Given the description of an element on the screen output the (x, y) to click on. 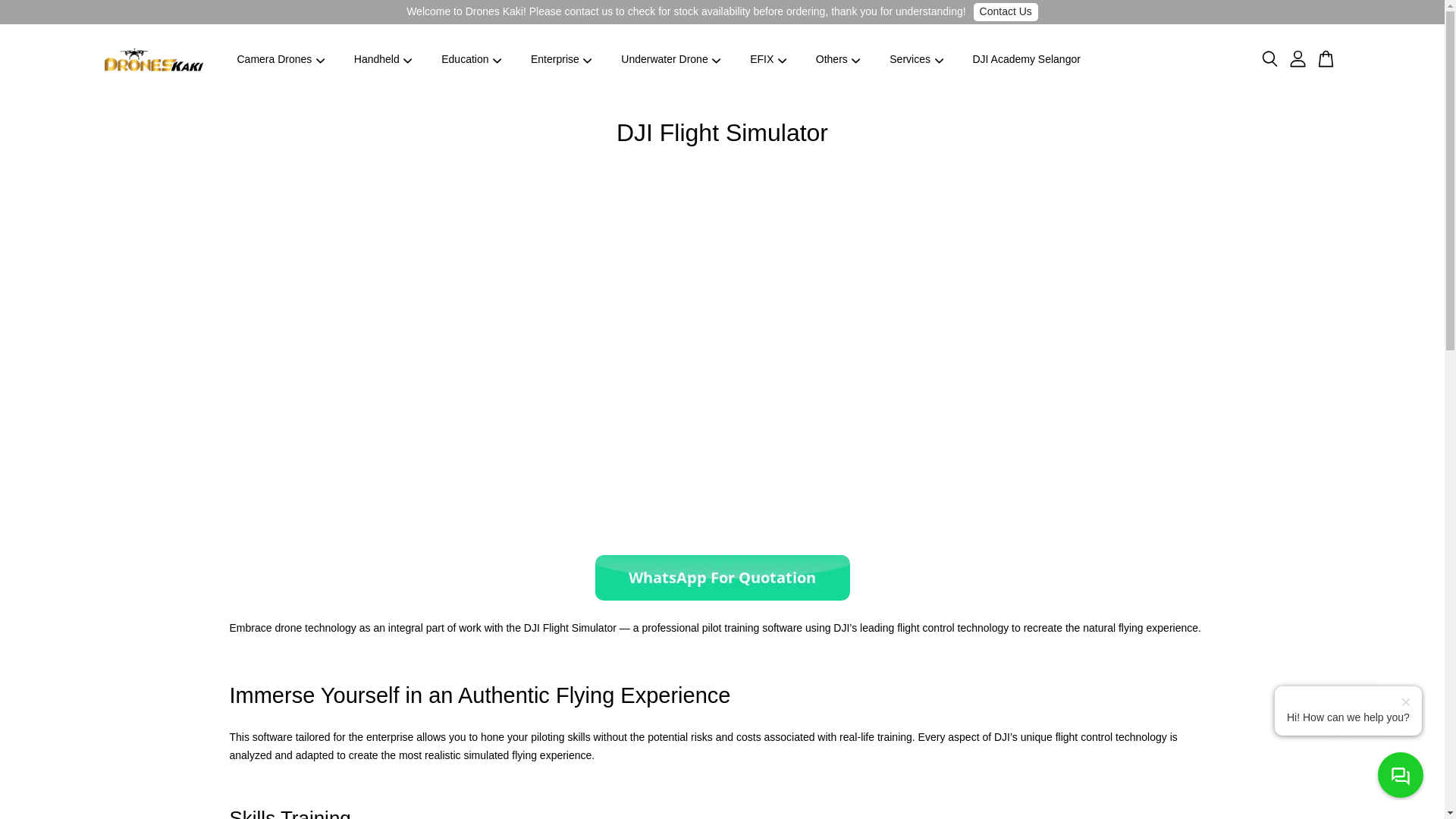
Webchat Widget (1284, 689)
